Given the description of an element on the screen output the (x, y) to click on. 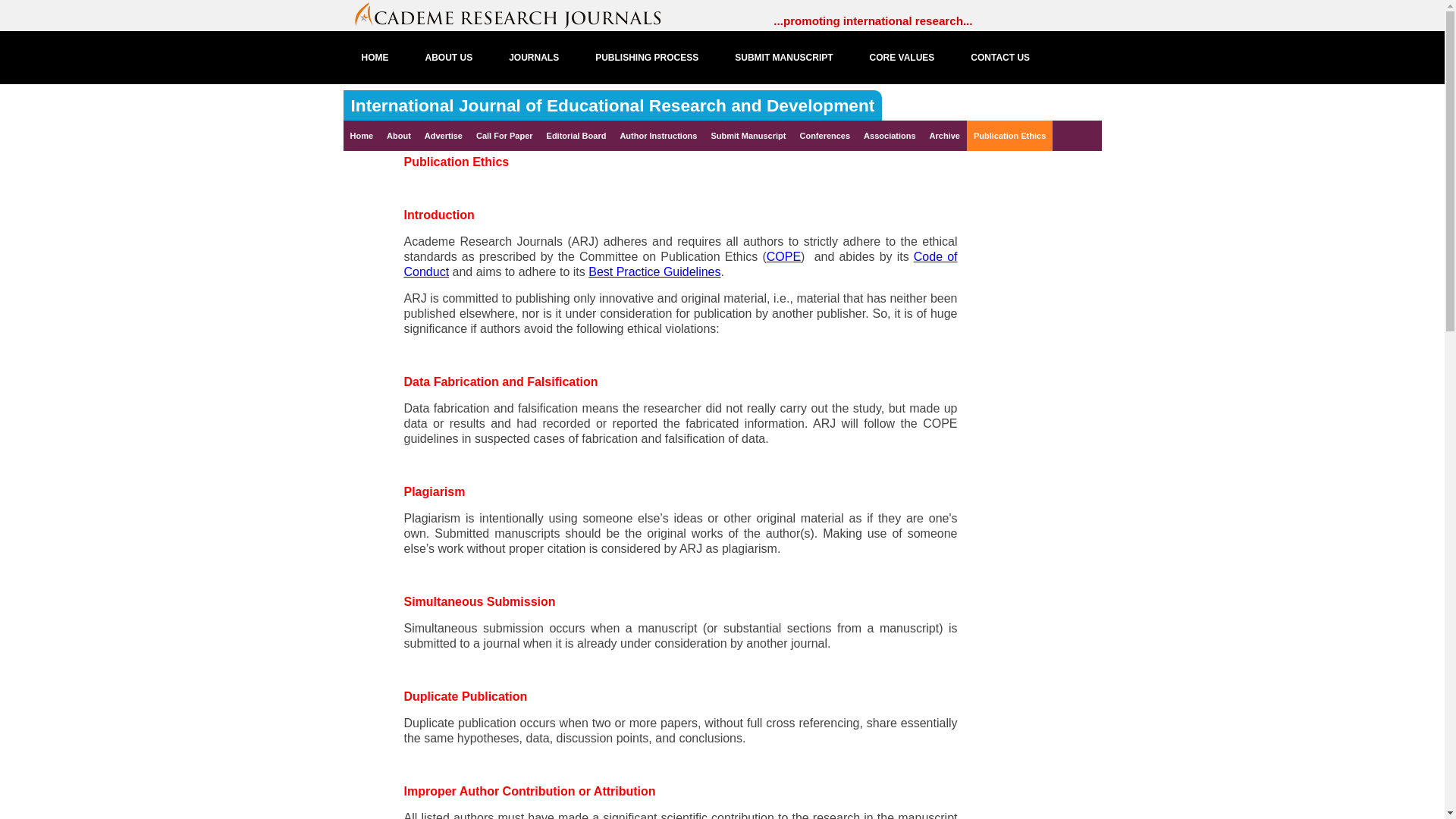
COPE (783, 256)
FAQ (369, 110)
Publication Ethics (1009, 135)
JOURNALS (533, 57)
Archive (944, 135)
CORE VALUES (902, 57)
Call For Paper (504, 135)
HOME (374, 57)
SUBMIT MANUSCRIPT (783, 57)
Editorial Board (576, 135)
